Given the description of an element on the screen output the (x, y) to click on. 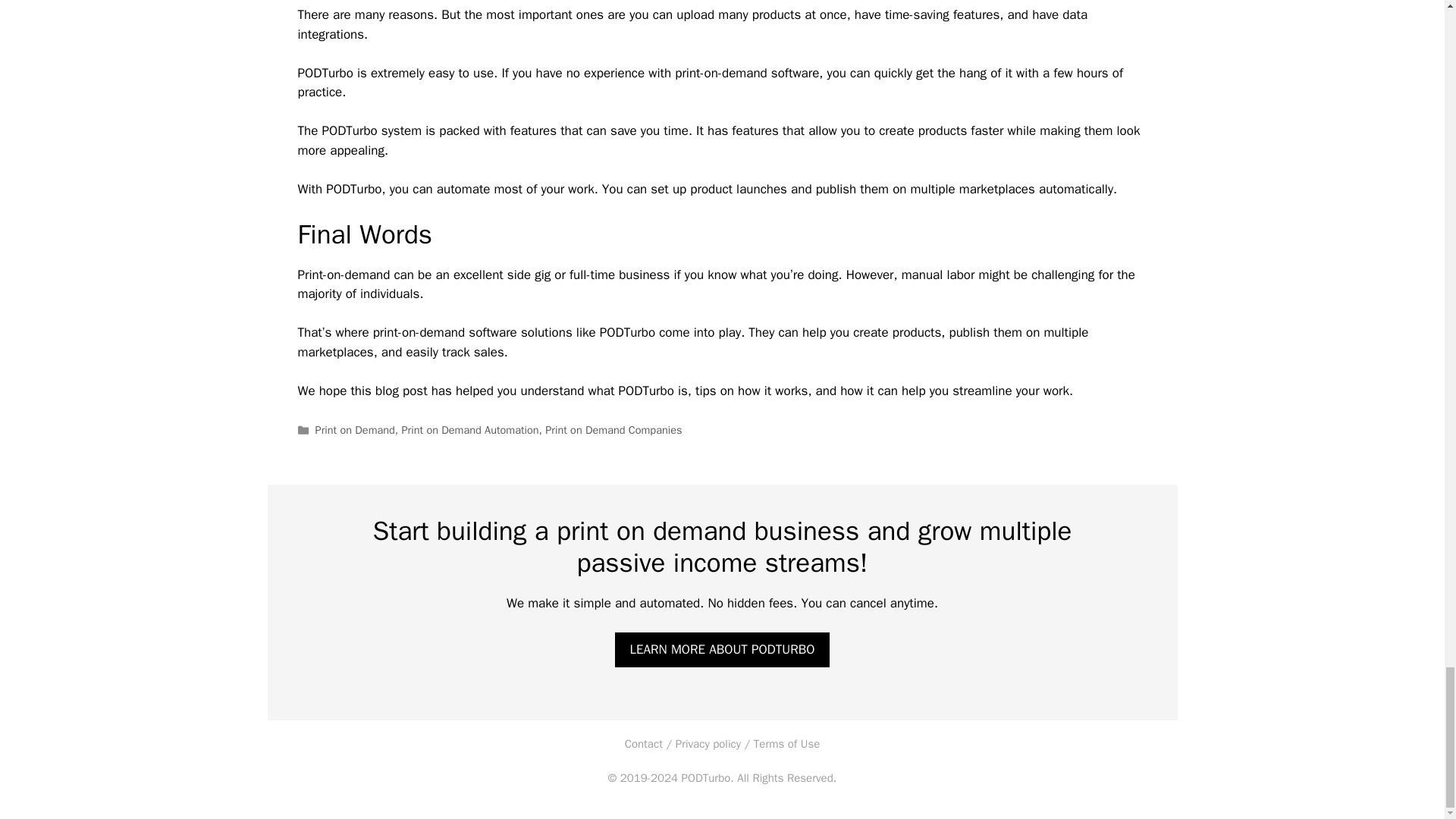
Contact (643, 744)
Print on Demand Automation (469, 429)
Privacy policy (708, 744)
Print on Demand Companies (612, 429)
Print on Demand (354, 429)
PODTurbo (705, 777)
LEARN MORE ABOUT PODTURBO (721, 649)
Terms of Use (787, 744)
